Given the description of an element on the screen output the (x, y) to click on. 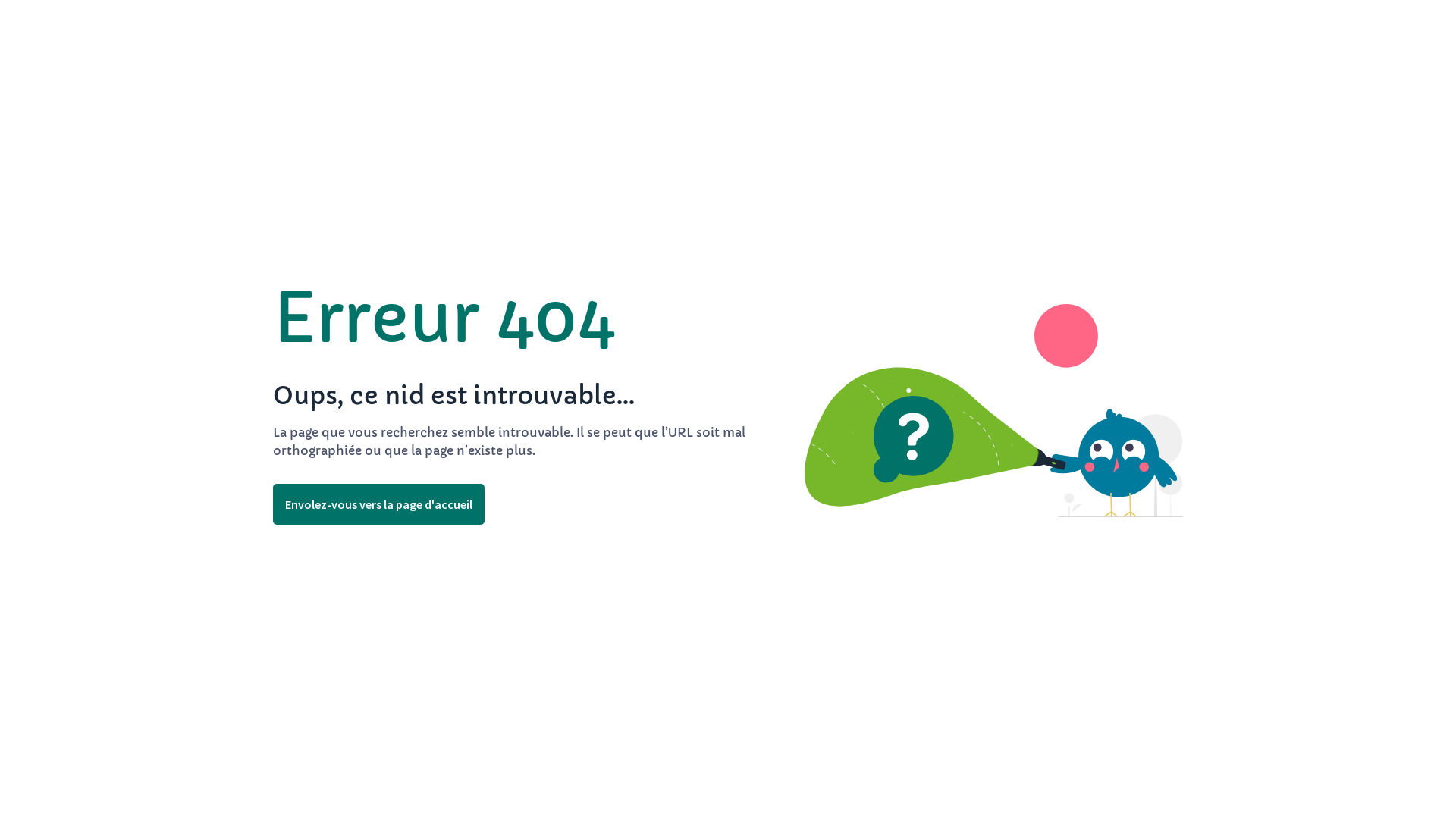
Envolez-vous vers la page d'accueil Element type: text (378, 503)
